Given the description of an element on the screen output the (x, y) to click on. 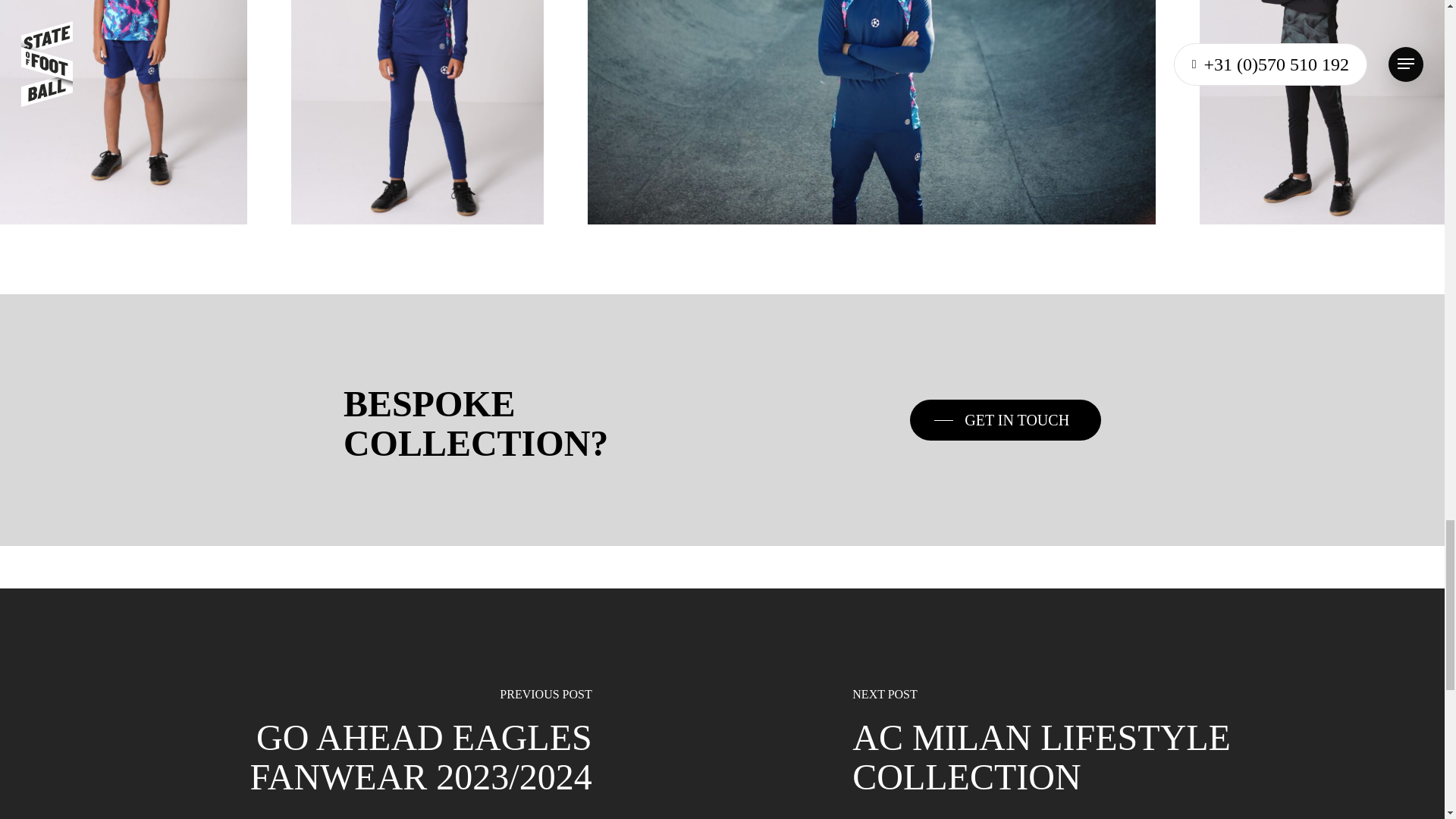
GET IN TOUCH (1005, 419)
